Given the description of an element on the screen output the (x, y) to click on. 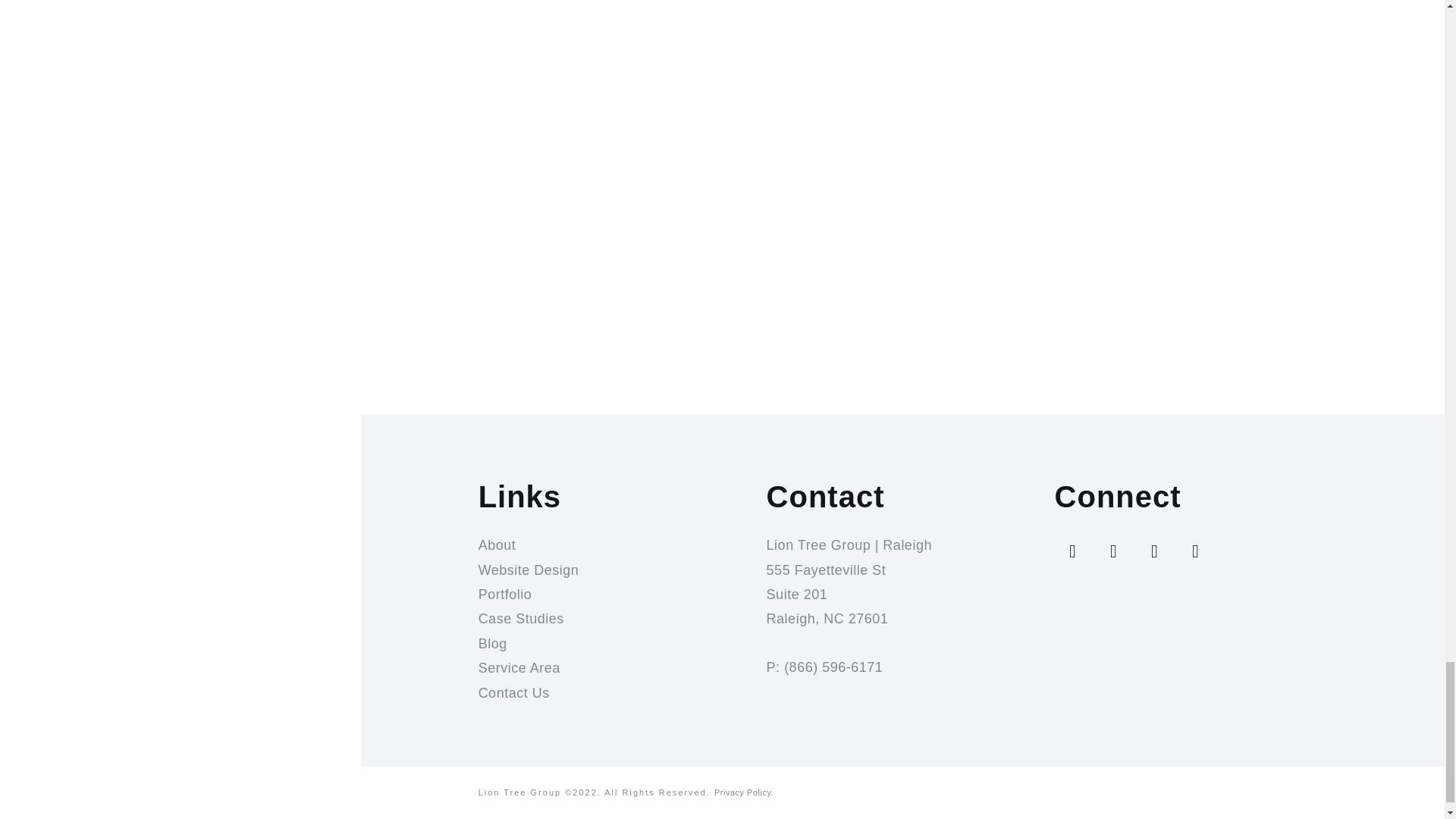
Case Studies (615, 618)
Privacy Policy. (743, 791)
Instagram (1114, 551)
Facebook (1072, 551)
Youtube (1155, 551)
Service Area (615, 668)
Linkedin (1195, 551)
Contact Us (615, 692)
Blog (615, 643)
About (615, 545)
